Given the description of an element on the screen output the (x, y) to click on. 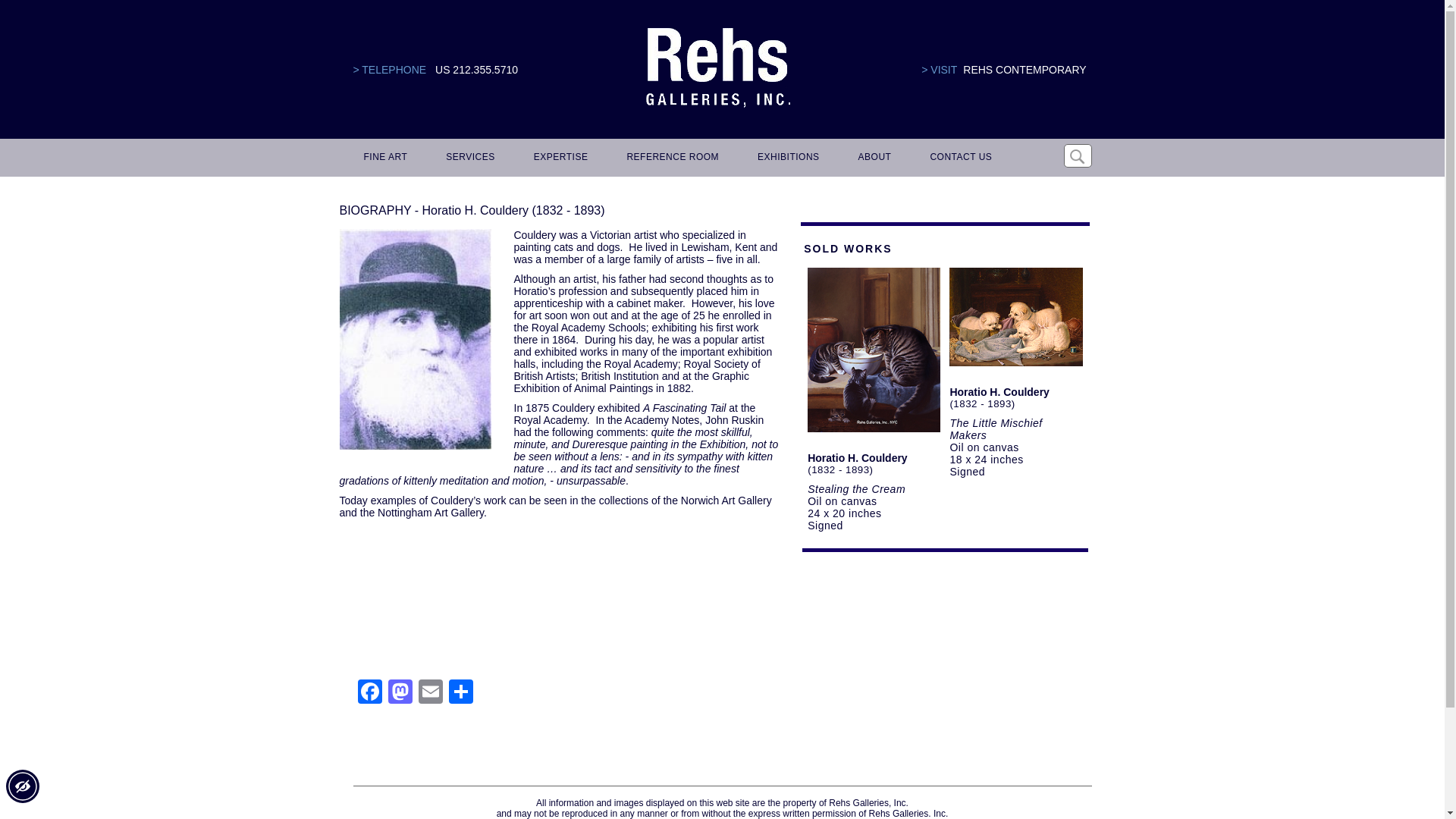
Mastodon (399, 693)
Logo (717, 67)
REHS CONTEMPORARY (1024, 69)
REFERENCE ROOM (670, 157)
Share (460, 693)
ABOUT (872, 157)
EXHIBITIONS (785, 157)
Facebook (370, 693)
Stealing the Cream (856, 489)
The Little Mischief Makers (995, 428)
EXPERTISE (558, 157)
FINE ART (383, 157)
Accessibility Menu (22, 786)
CONTACT US (957, 157)
Mastodon (399, 693)
